Given the description of an element on the screen output the (x, y) to click on. 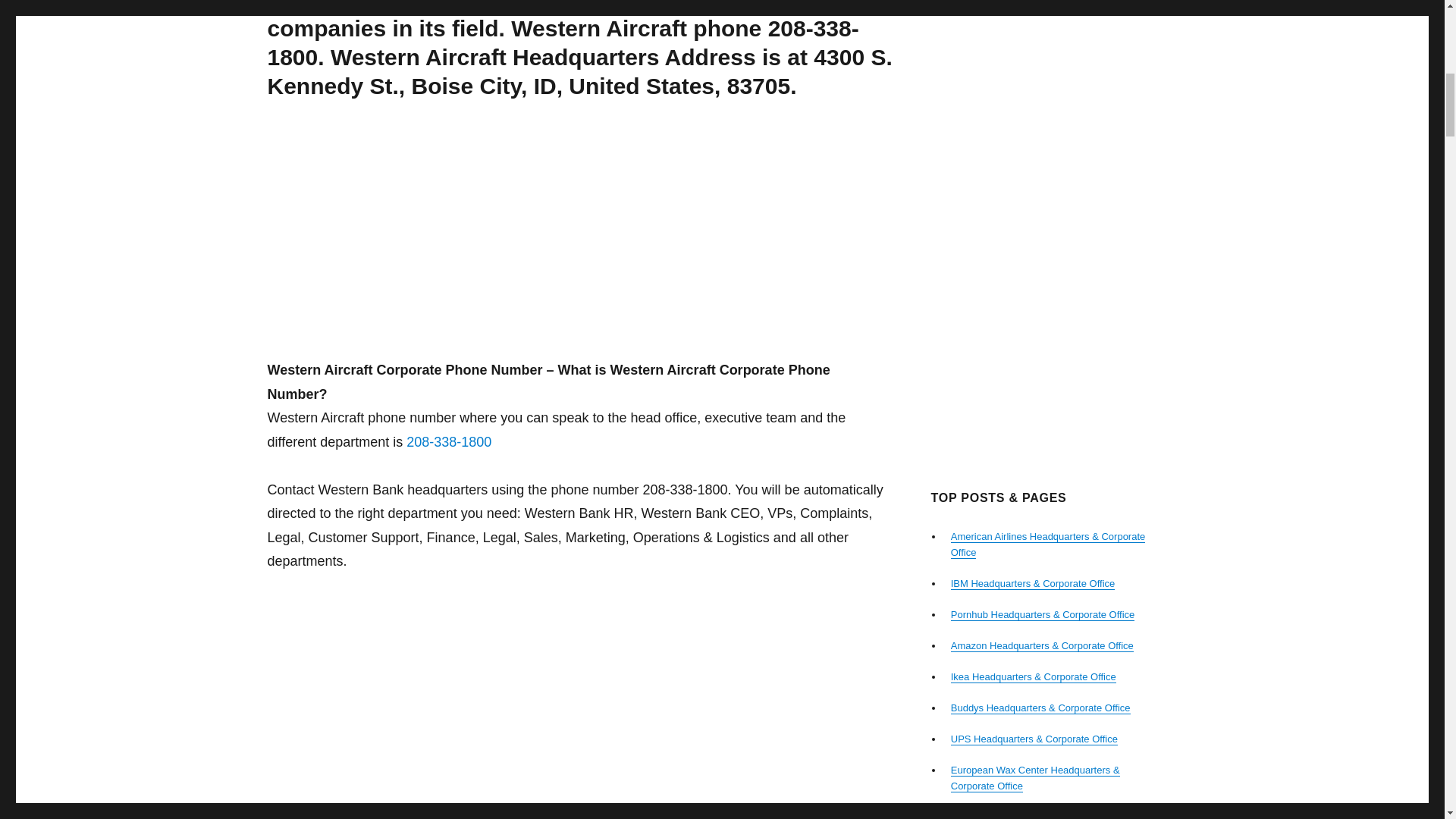
208-338-1800 (449, 441)
